Given the description of an element on the screen output the (x, y) to click on. 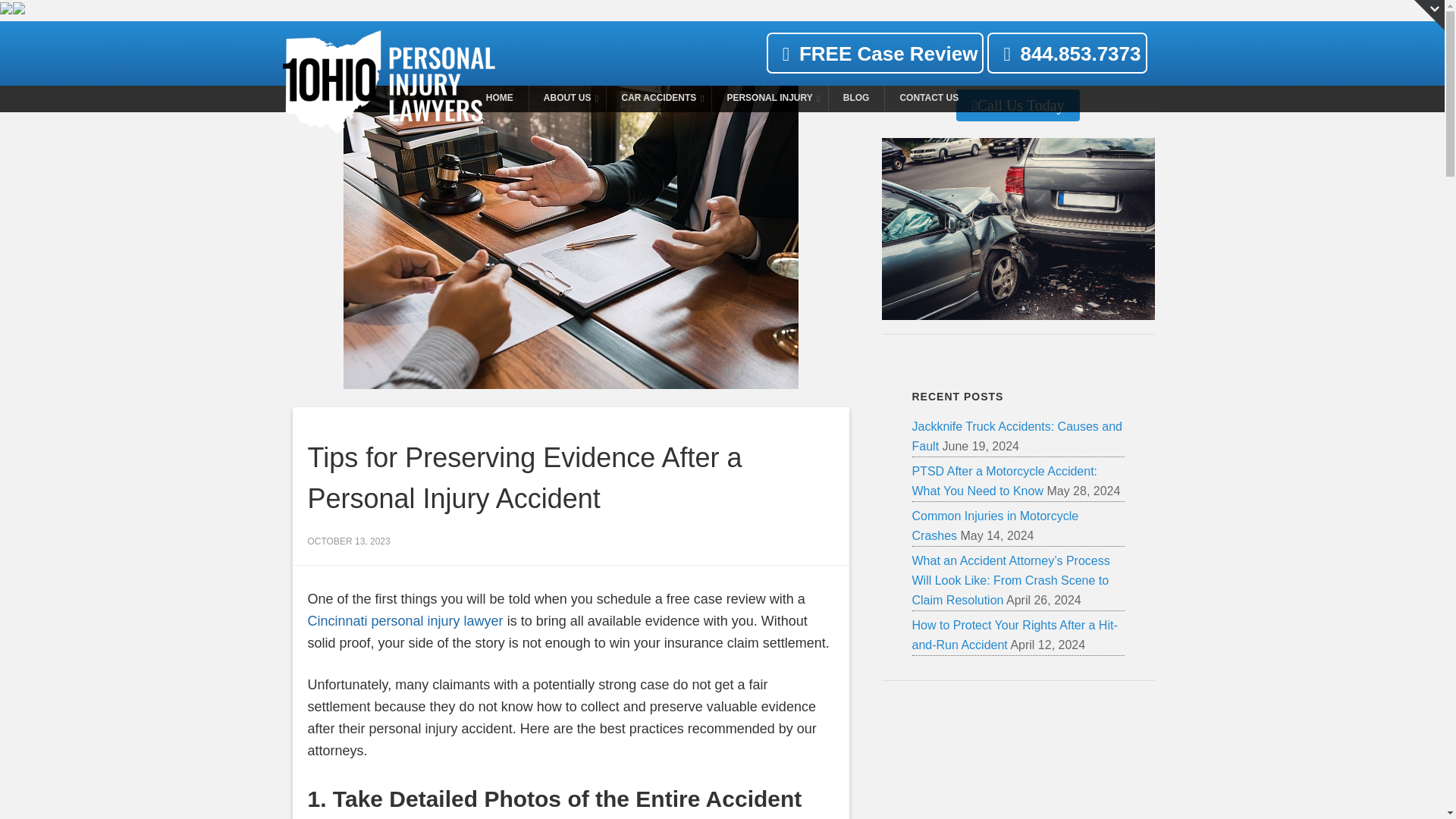
BLOG (856, 98)
About Ohio Injury Law Firm (567, 98)
PERSONAL INJURY (769, 98)
HOME (499, 98)
Ohio Car Accident Attorneys (499, 98)
ABOUT US (567, 98)
844.853.7373 (1066, 55)
FREE Case Review (875, 52)
CAR ACCIDENTS (658, 98)
CONTACT US (928, 98)
Ohio Car Accident Lawyers (721, 98)
